Given the description of an element on the screen output the (x, y) to click on. 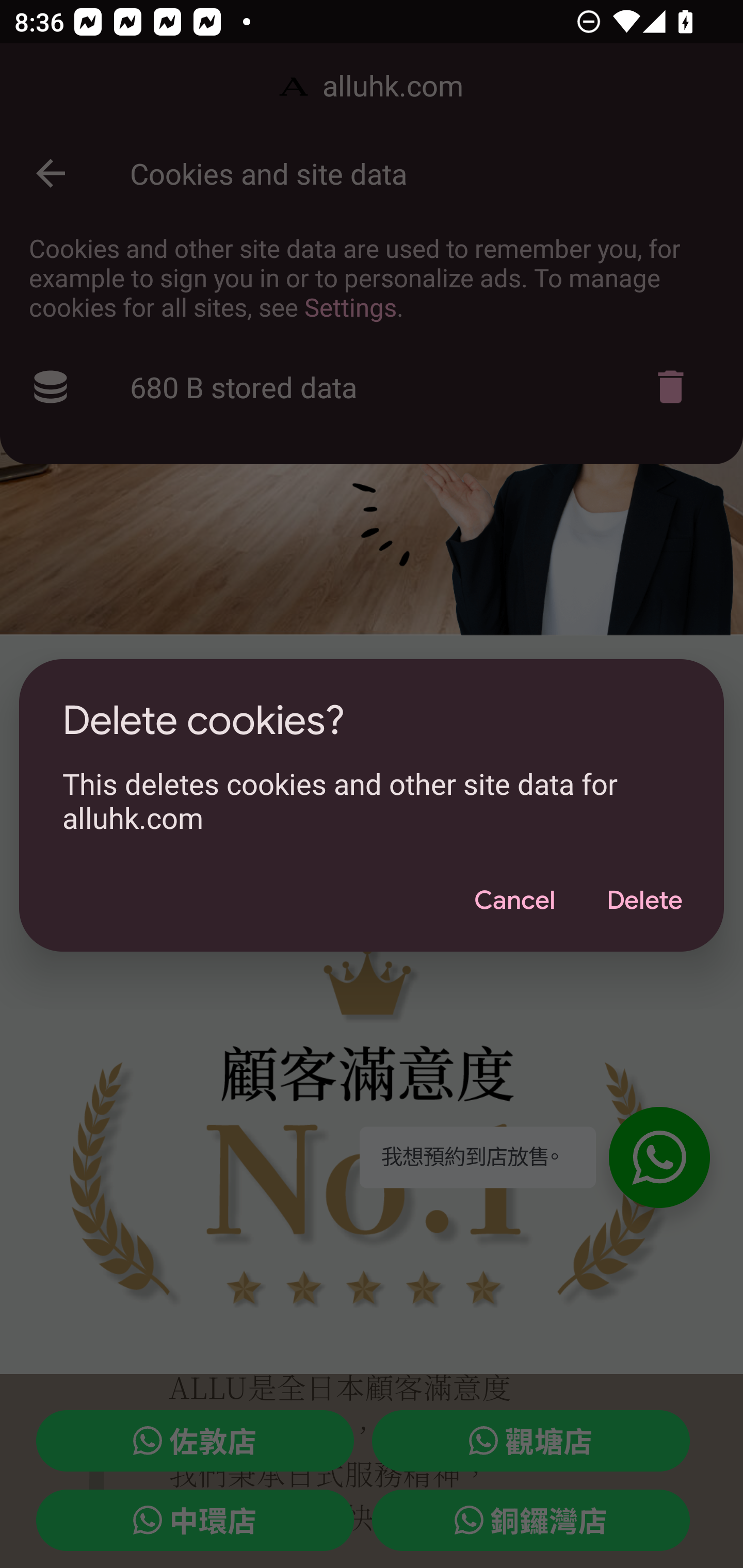
Cancel (514, 900)
Delete (644, 900)
